Given the description of an element on the screen output the (x, y) to click on. 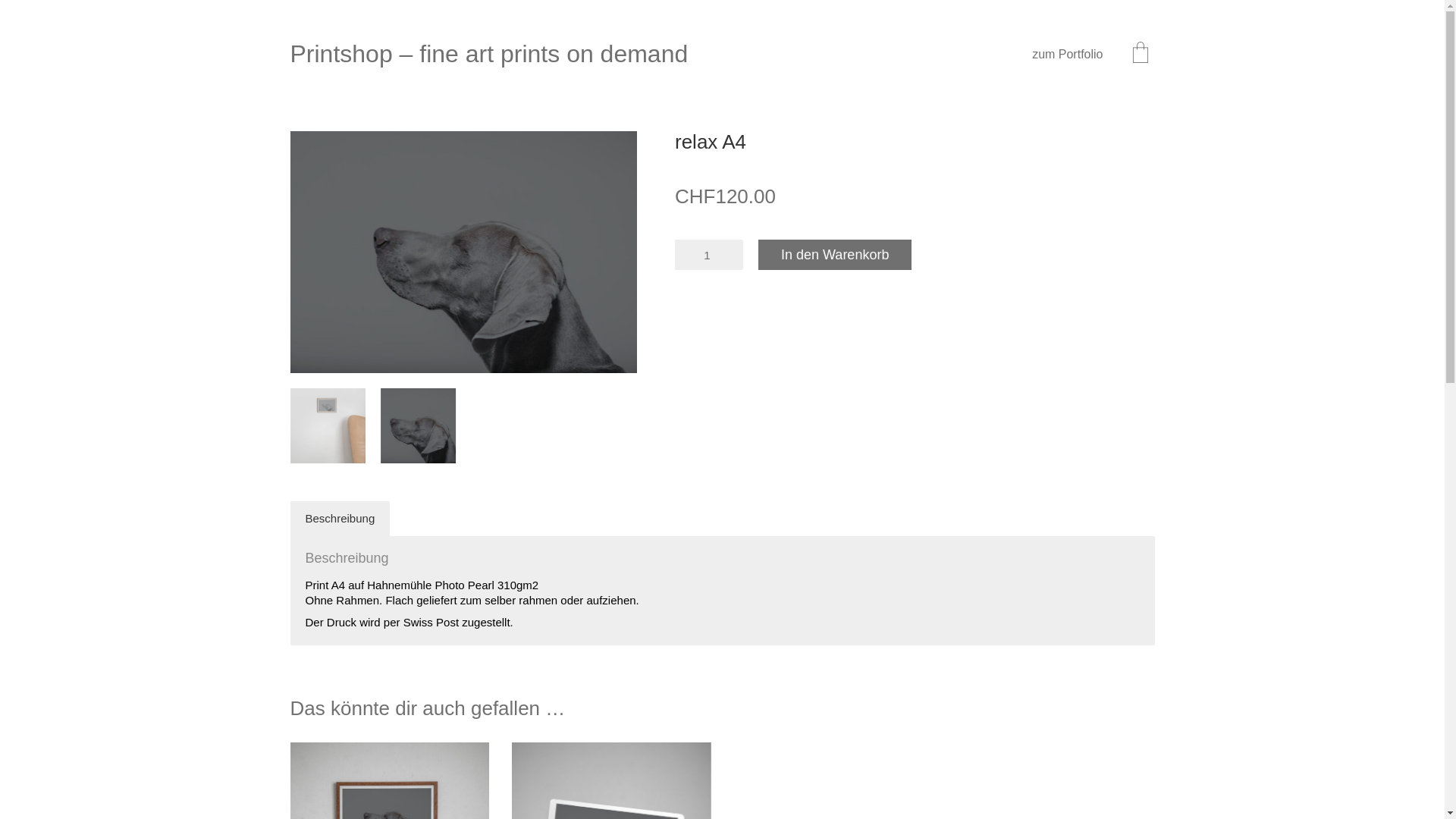
relax Element type: hover (417, 425)
Email Element type: text (1343, 784)
relax_A4 Element type: hover (326, 425)
zum Portfolio Element type: text (1067, 54)
Impressum Element type: text (1405, 784)
In den Warenkorb Element type: text (834, 254)
Beschreibung Element type: text (339, 518)
relax Element type: hover (463, 252)
Menge Element type: hover (708, 254)
